Given the description of an element on the screen output the (x, y) to click on. 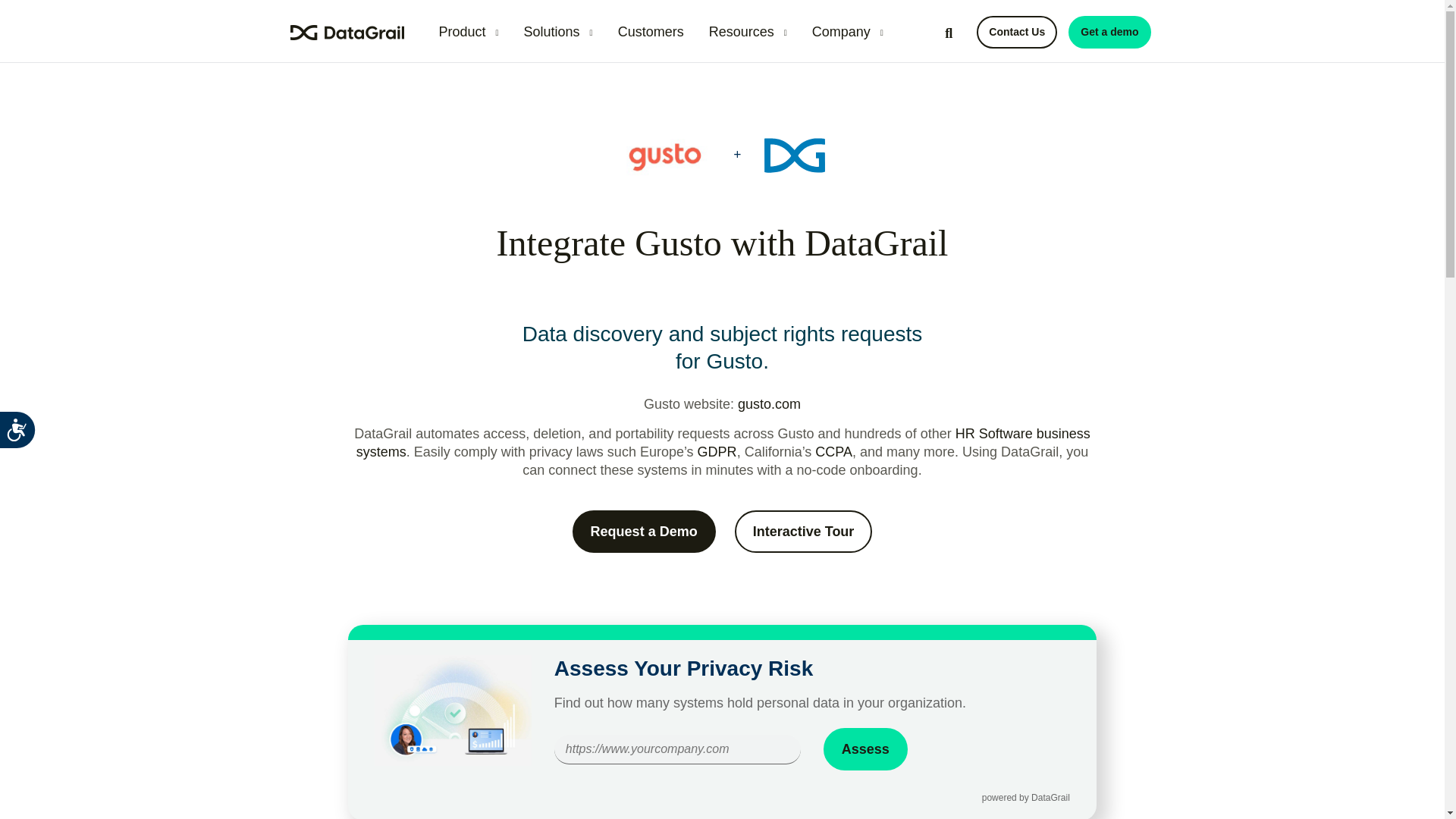
Product (467, 31)
Solutions (558, 31)
Get a demo (1109, 31)
Resources (748, 31)
Accessibility (31, 443)
Assess (865, 749)
Customers (650, 31)
Contact Us (1016, 31)
Company (847, 31)
